Given the description of an element on the screen output the (x, y) to click on. 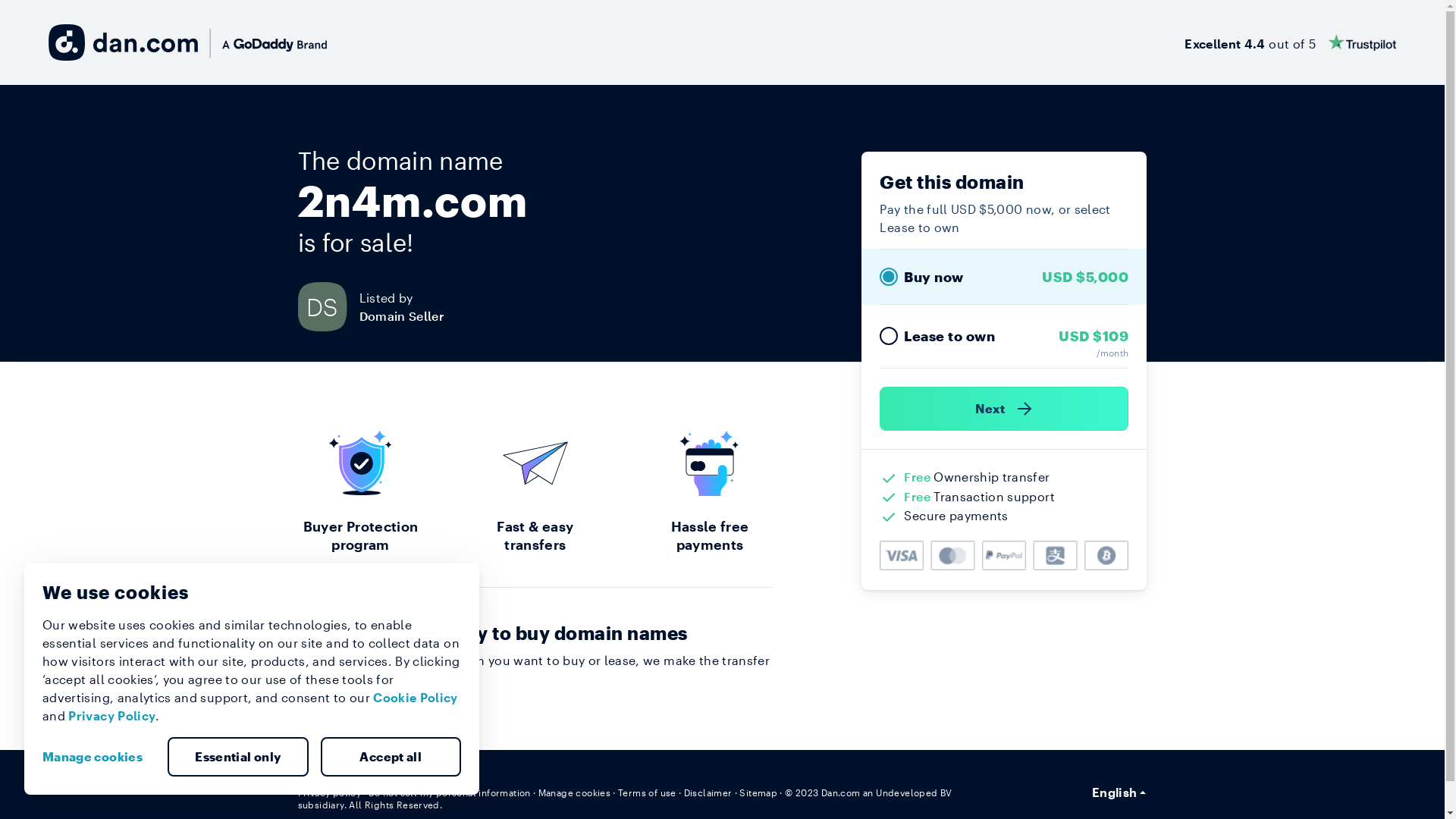
Manage cookies Element type: text (574, 792)
Privacy Policy Element type: text (111, 715)
Accept all Element type: text (390, 756)
Excellent 4.4 out of 5 Element type: text (1290, 42)
Sitemap Element type: text (758, 792)
Privacy policy Element type: text (328, 792)
English Element type: text (1119, 792)
Essential only Element type: text (237, 756)
Cookie Policy Element type: text (415, 697)
Do not sell my personal information Element type: text (449, 792)
Next
) Element type: text (1003, 408)
Terms of use Element type: text (647, 792)
Disclaimer Element type: text (708, 792)
Manage cookies Element type: text (98, 756)
